Given the description of an element on the screen output the (x, y) to click on. 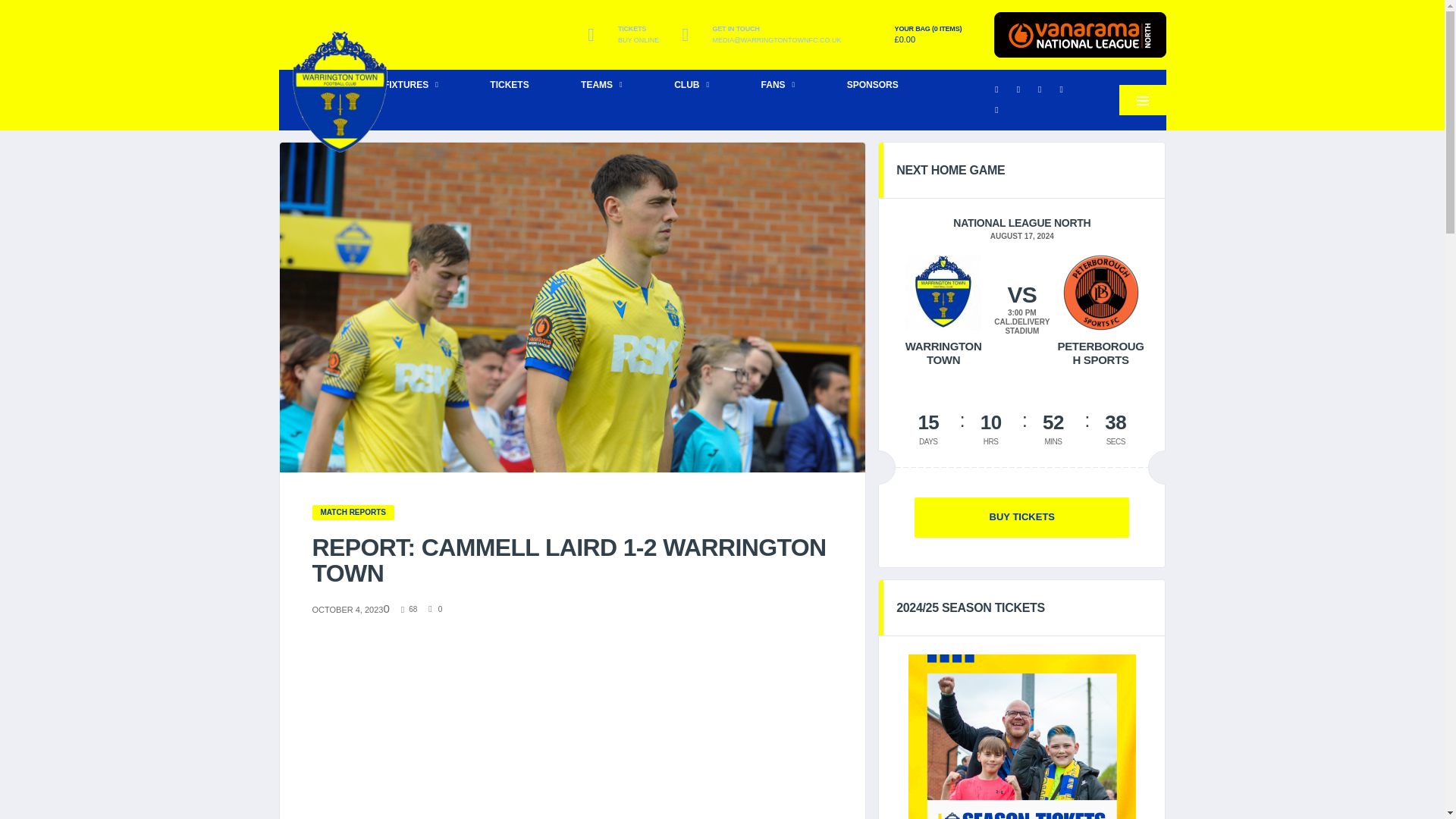
TICKETS (638, 28)
SPONSORS (872, 84)
BUY ONLINE (638, 40)
NEWS (318, 84)
TICKETS (509, 84)
FANS (778, 84)
TEAMS (600, 84)
Like (409, 609)
GET IN TOUCH (776, 28)
CLUB (691, 84)
View your shopping cart (928, 34)
SHOP (314, 114)
FIXTURES (411, 84)
